Given the description of an element on the screen output the (x, y) to click on. 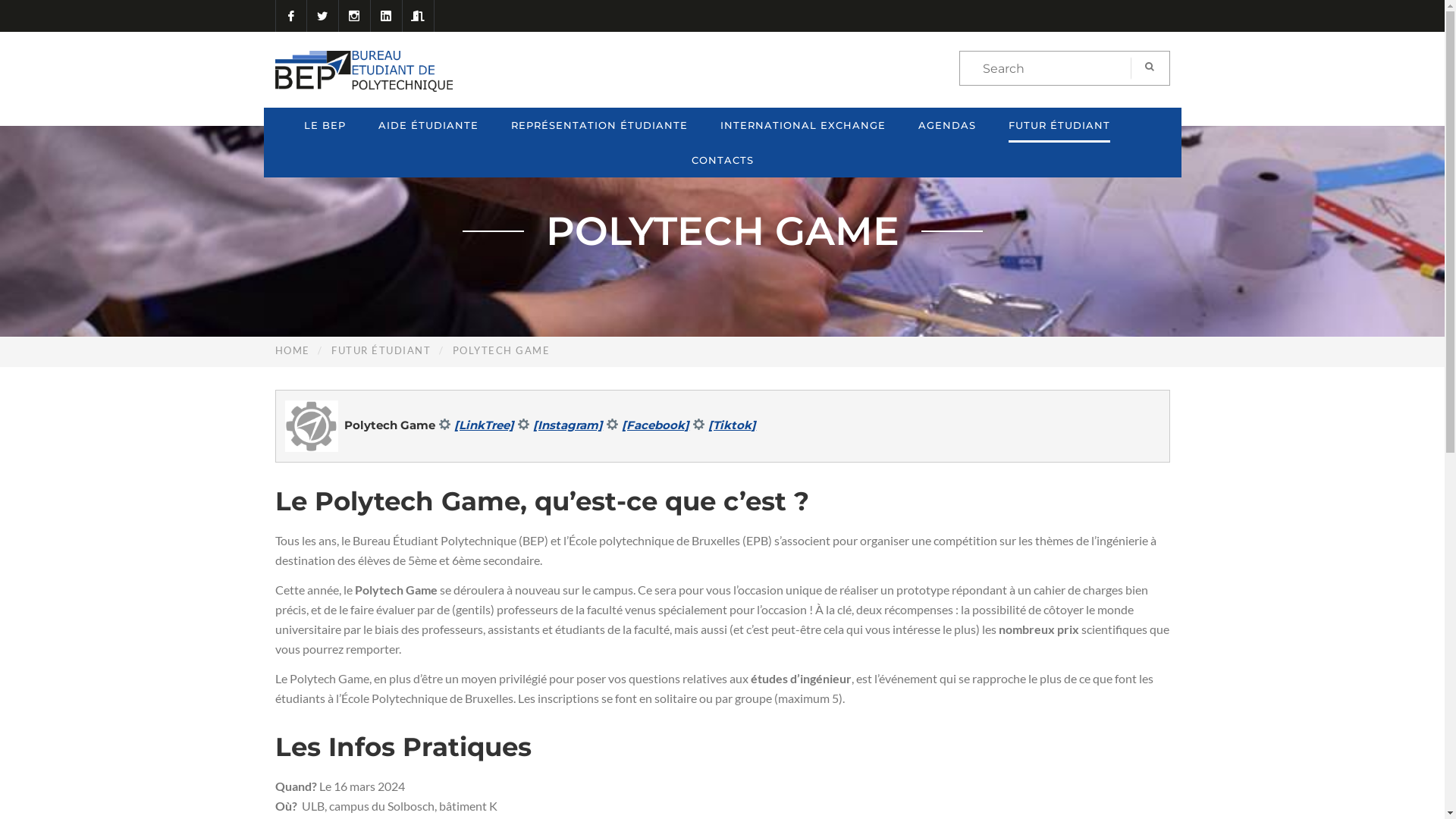
[Tiktok] Element type: text (732, 424)
[Facebook] Element type: text (655, 424)
LE BEP Element type: text (324, 124)
AGENDAS Element type: text (946, 124)
INTERNATIONAL EXCHANGE Element type: text (802, 124)
CONTACTS Element type: text (722, 159)
[Instagram] Element type: text (567, 424)
HOME Element type: text (291, 350)
[LinkTree] Element type: text (484, 424)
